Given the description of an element on the screen output the (x, y) to click on. 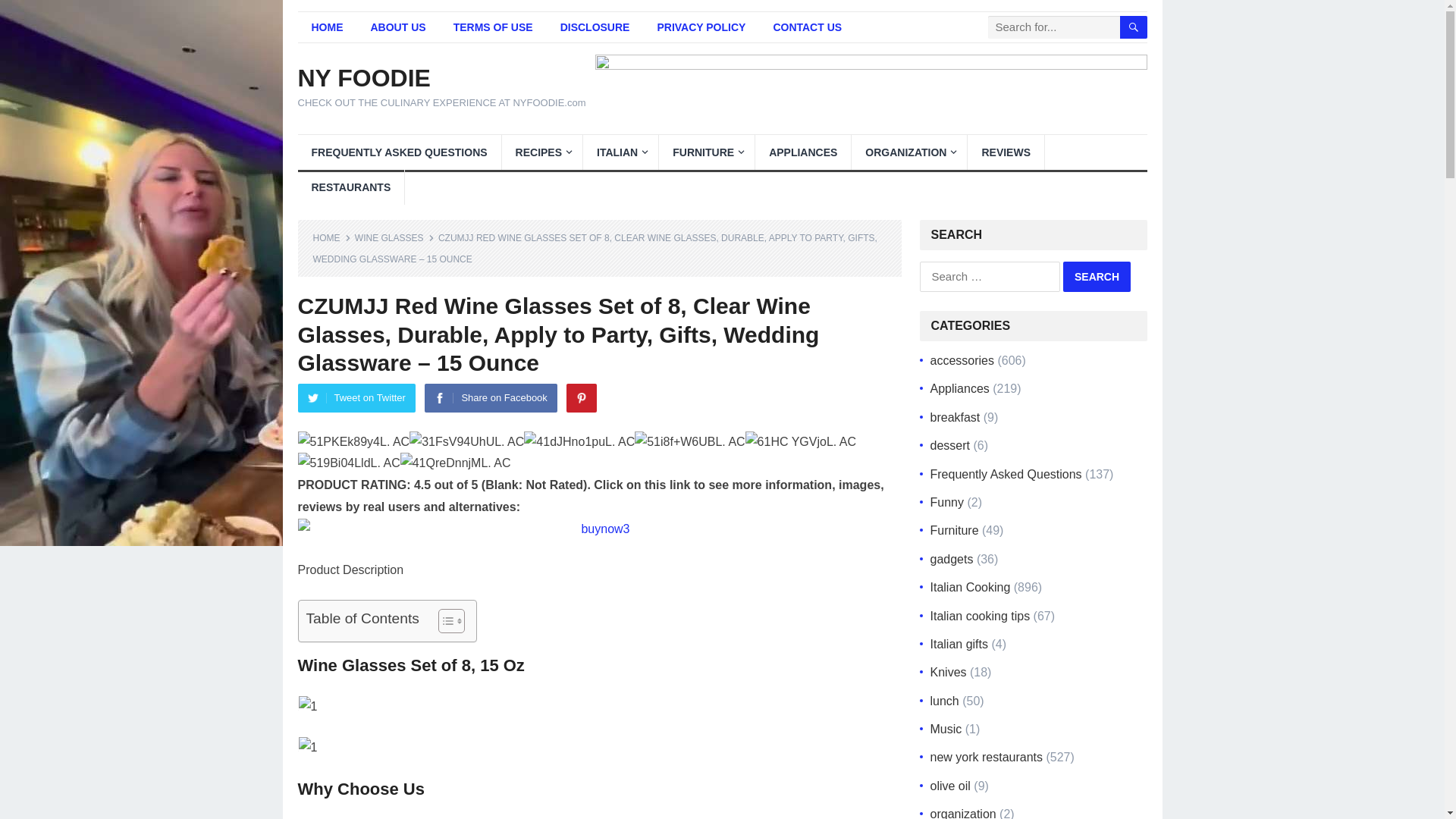
RESTAURANTS (350, 186)
ORGANIZATION (908, 152)
ITALIAN (620, 152)
FURNITURE (706, 152)
DISCLOSURE (595, 27)
TERMS OF USE (493, 27)
